Given the description of an element on the screen output the (x, y) to click on. 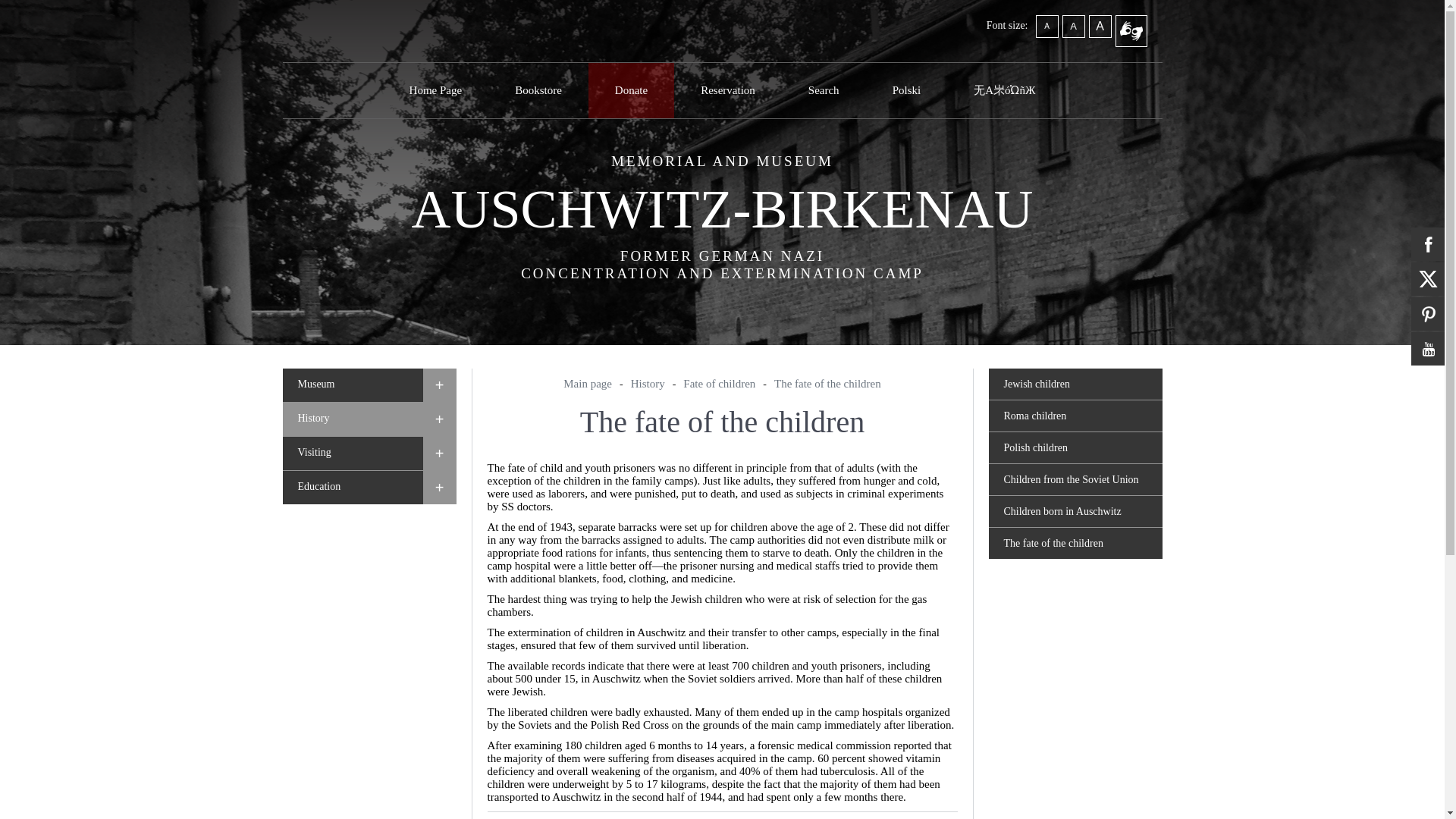
Polski (906, 90)
AUSCHWITZ-BIRKENAU (722, 209)
Search (823, 90)
Donate (631, 90)
Bookstore (537, 90)
A (1100, 26)
Home Page (435, 90)
A (1072, 26)
Museum (352, 385)
Reservation (727, 90)
